Given the description of an element on the screen output the (x, y) to click on. 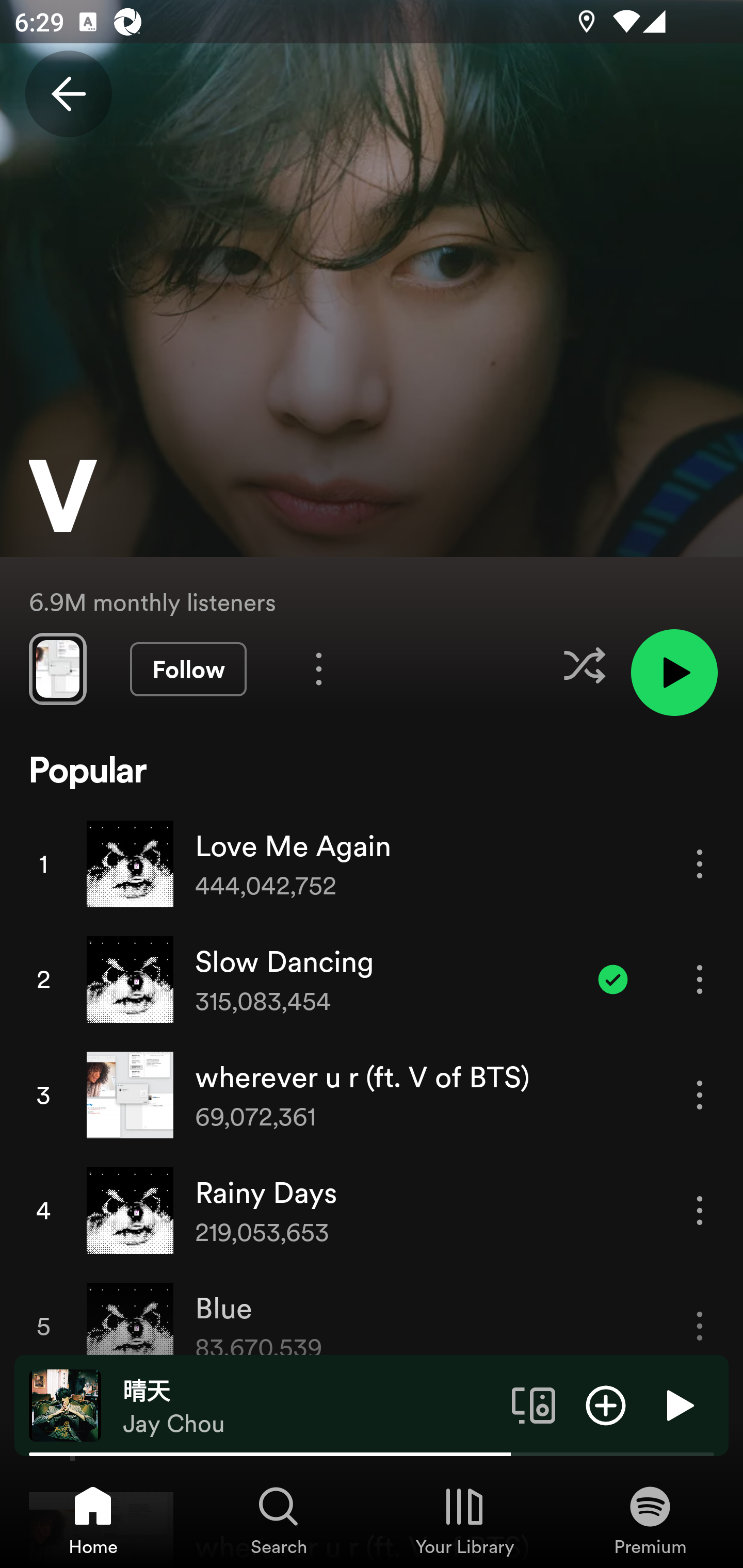
Back (68, 93)
Enable shuffle for this artist (583, 665)
More options for artist V (318, 668)
Play artist (674, 672)
Follow (188, 669)
More options for song Love Me Again (699, 863)
Item added (612, 979)
More options for song Slow Dancing (699, 979)
More options for song wherever u r (ft. V of BTS) (699, 1095)
More options for song Rainy Days (699, 1210)
More options for song Blue (699, 1325)
晴天 Jay Chou (309, 1405)
The cover art of the currently playing track (64, 1404)
Connect to a device. Opens the devices menu (533, 1404)
Add item (605, 1404)
Play (677, 1404)
Home, Tab 1 of 4 Home Home (92, 1519)
Search, Tab 2 of 4 Search Search (278, 1519)
Your Library, Tab 3 of 4 Your Library Your Library (464, 1519)
Premium, Tab 4 of 4 Premium Premium (650, 1519)
